Given the description of an element on the screen output the (x, y) to click on. 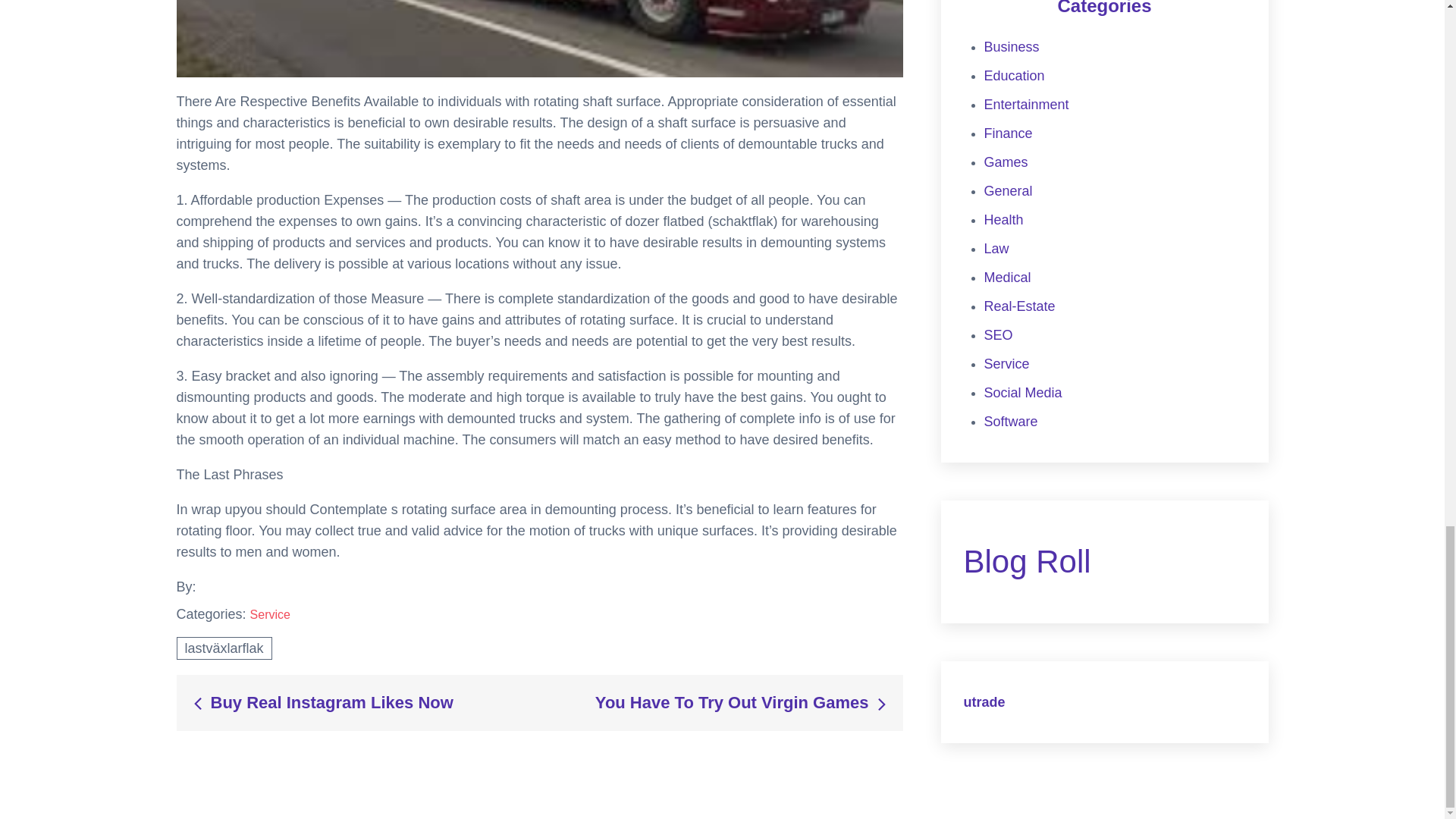
Health (1003, 219)
Social Media (1023, 392)
Business (1011, 46)
Medical (1007, 277)
Law (996, 248)
SEO (998, 335)
Entertainment (1026, 104)
Software (1011, 421)
Service (269, 614)
General (1008, 191)
Education (1014, 75)
Finance (1008, 133)
Real-Estate (1019, 305)
utrade (983, 702)
Service (1006, 363)
